Given the description of an element on the screen output the (x, y) to click on. 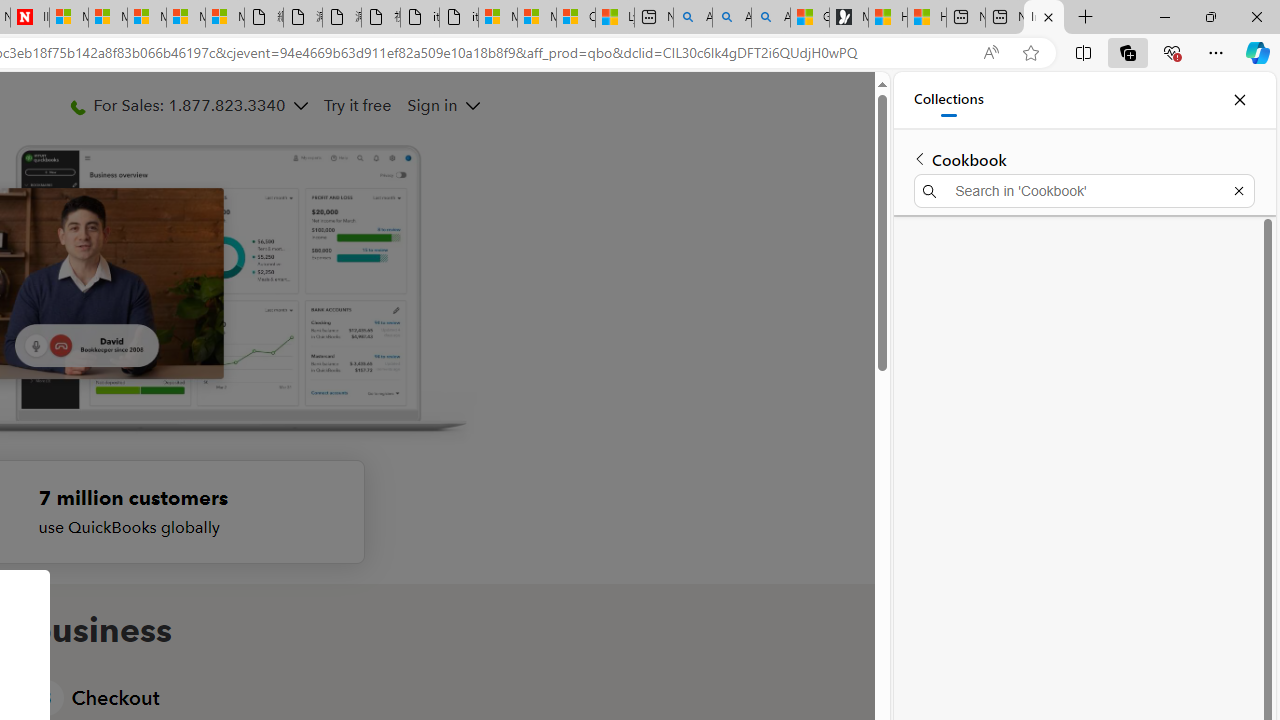
For Sales: 1.877.823.3340 (189, 105)
Search in 'Cookbook' (1084, 190)
Consumer Health Data Privacy Policy (575, 17)
Intuit QuickBooks Online - Quickbooks (1044, 17)
Illness news & latest pictures from Newsweek.com (29, 17)
Back to list of collections (920, 158)
